Given the description of an element on the screen output the (x, y) to click on. 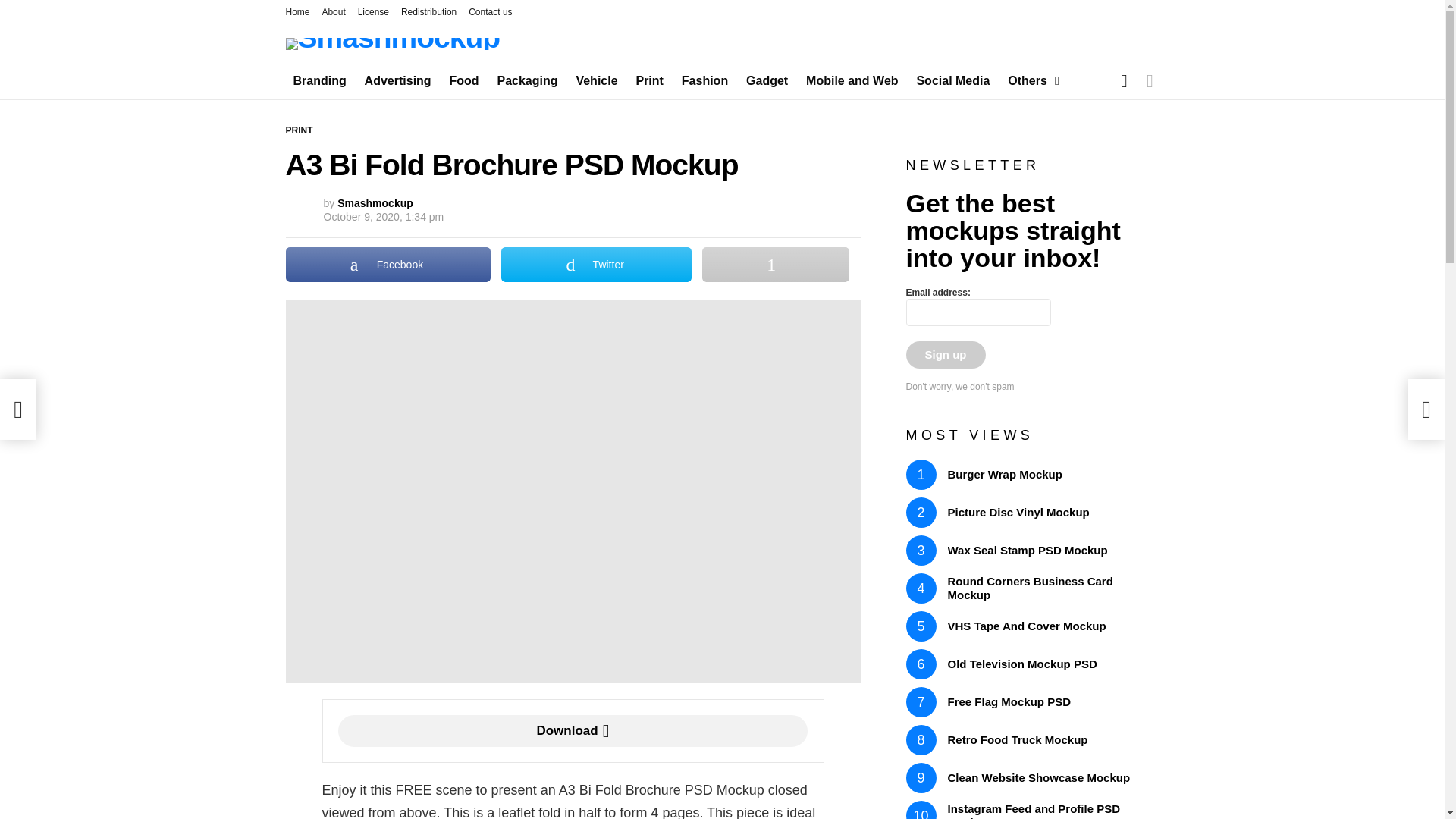
Download (572, 730)
Share on Facebook (387, 264)
Sign up (945, 354)
Gadget (766, 80)
Vehicle (595, 80)
About (333, 12)
Fashion (704, 80)
License (373, 12)
Share on More Button (774, 264)
Twitter (595, 264)
Share on Twitter (595, 264)
Others (1029, 80)
Food (464, 80)
Advertising (397, 80)
SEARCH (1123, 81)
